Given the description of an element on the screen output the (x, y) to click on. 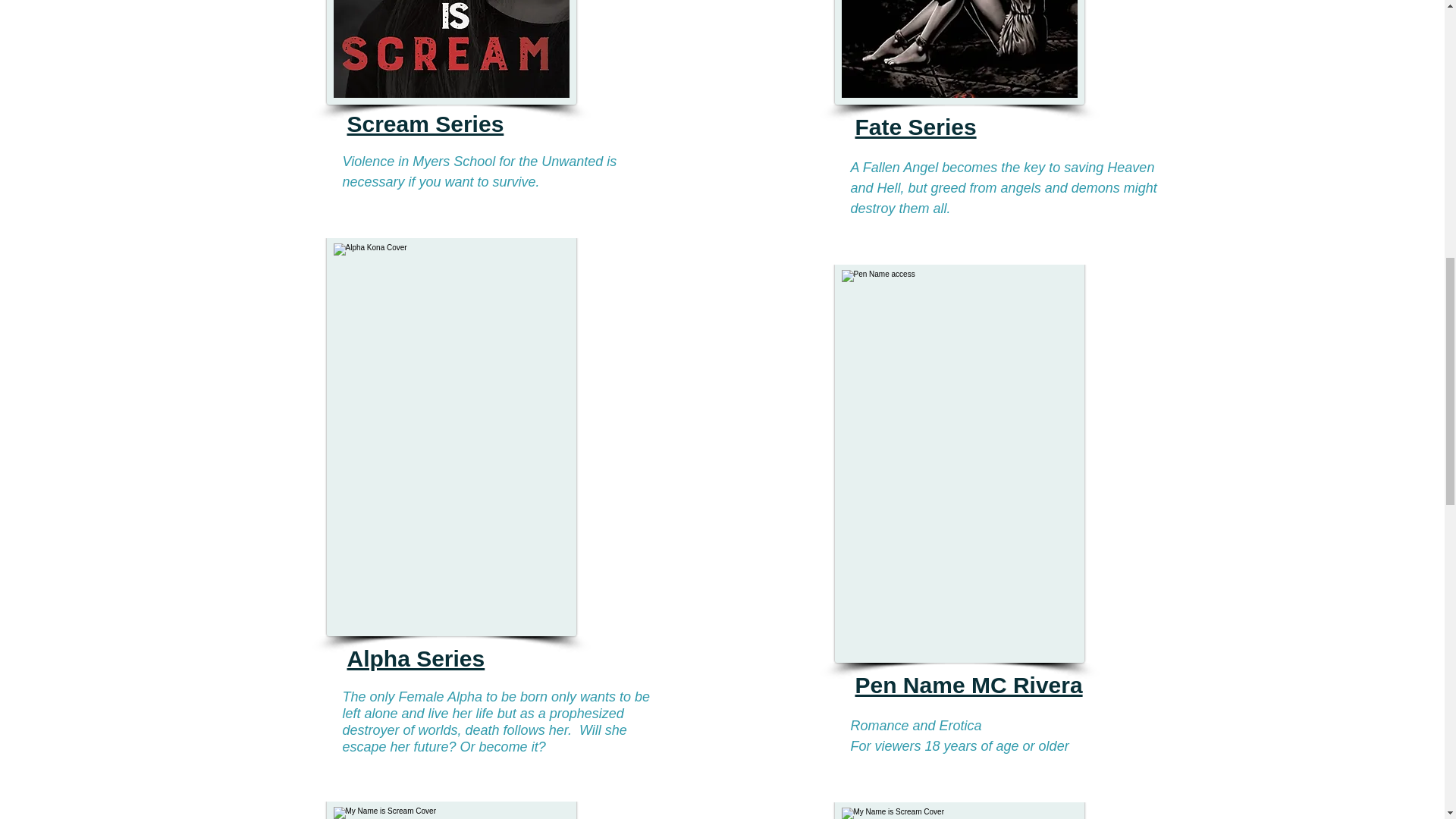
Fate Series (916, 126)
Alpha Series (415, 658)
Pen Name MC Rivera (969, 684)
Scream Series (425, 123)
